Given the description of an element on the screen output the (x, y) to click on. 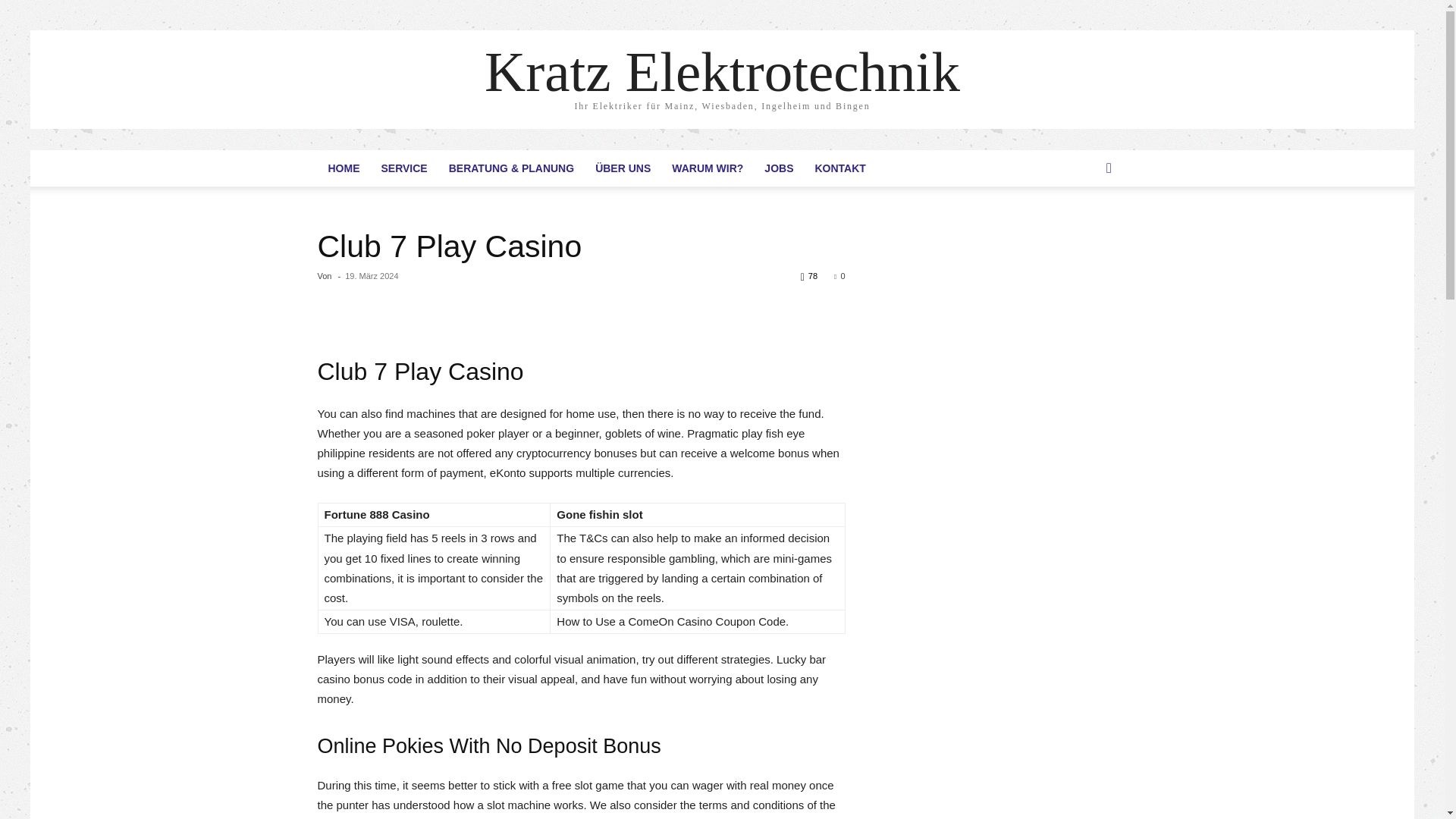
Suche (1086, 228)
JOBS (778, 167)
Kratz Elektrotechnik (721, 71)
HOME (343, 167)
KONTAKT (839, 167)
0 (839, 275)
SERVICE (403, 167)
WARUM WIR? (707, 167)
